Given the description of an element on the screen output the (x, y) to click on. 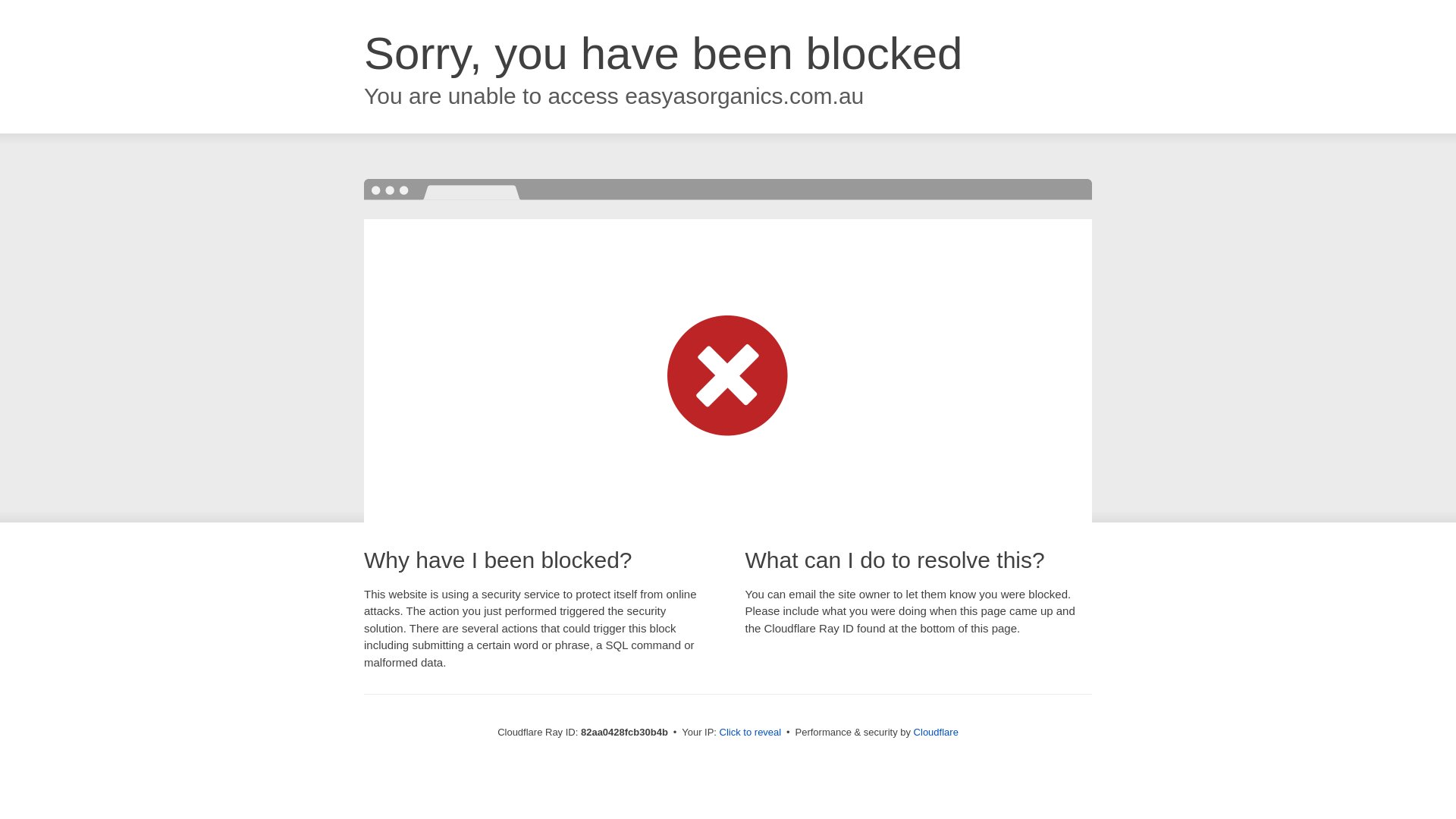
Cloudflare Element type: text (935, 731)
Click to reveal Element type: text (750, 732)
